Given the description of an element on the screen output the (x, y) to click on. 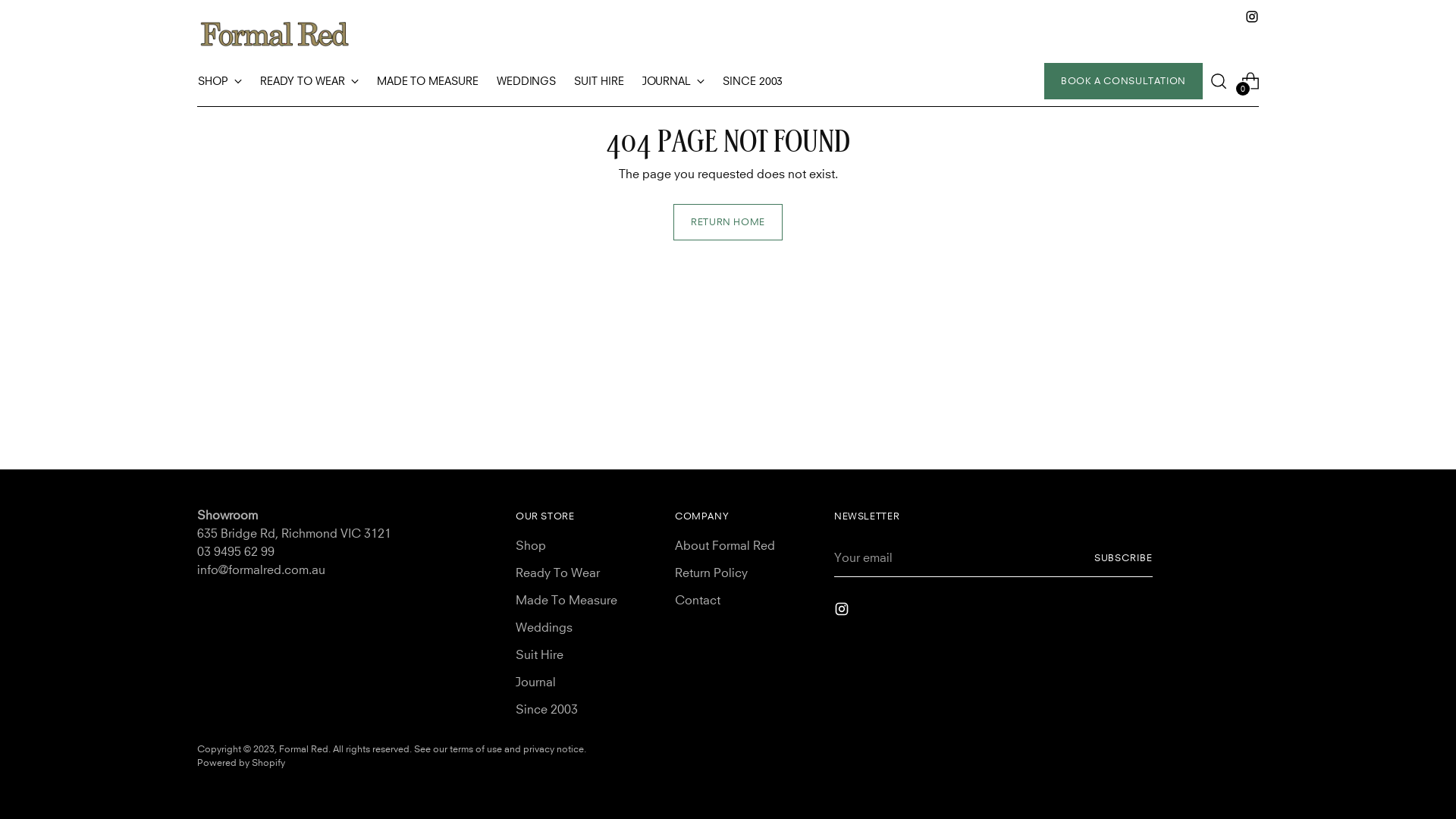
Made To Measure Element type: text (566, 599)
RETURN HOME Element type: text (727, 221)
Return Policy Element type: text (710, 572)
SHOP Element type: text (219, 80)
Formal Red Element type: text (303, 748)
Formal Red on Instagram Element type: hover (1251, 16)
SUBSCRIBE Element type: text (1123, 558)
Suit Hire Element type: text (539, 654)
Shop Element type: text (530, 544)
Contact Element type: text (697, 599)
SUIT HIRE Element type: text (598, 80)
Journal Element type: text (535, 681)
READY TO WEAR Element type: text (309, 80)
Powered by Shopify Element type: text (241, 762)
Formal Red on Instagram Element type: hover (843, 611)
Since 2003 Element type: text (546, 708)
0 Element type: text (1250, 80)
About Formal Red Element type: text (724, 544)
MADE TO MEASURE Element type: text (427, 80)
Ready To Wear Element type: text (557, 572)
Weddings Element type: text (543, 626)
JOURNAL Element type: text (673, 80)
WEDDINGS Element type: text (525, 80)
BOOK A CONSULTATION Element type: text (1123, 80)
SINCE 2003 Element type: text (752, 80)
